Given the description of an element on the screen output the (x, y) to click on. 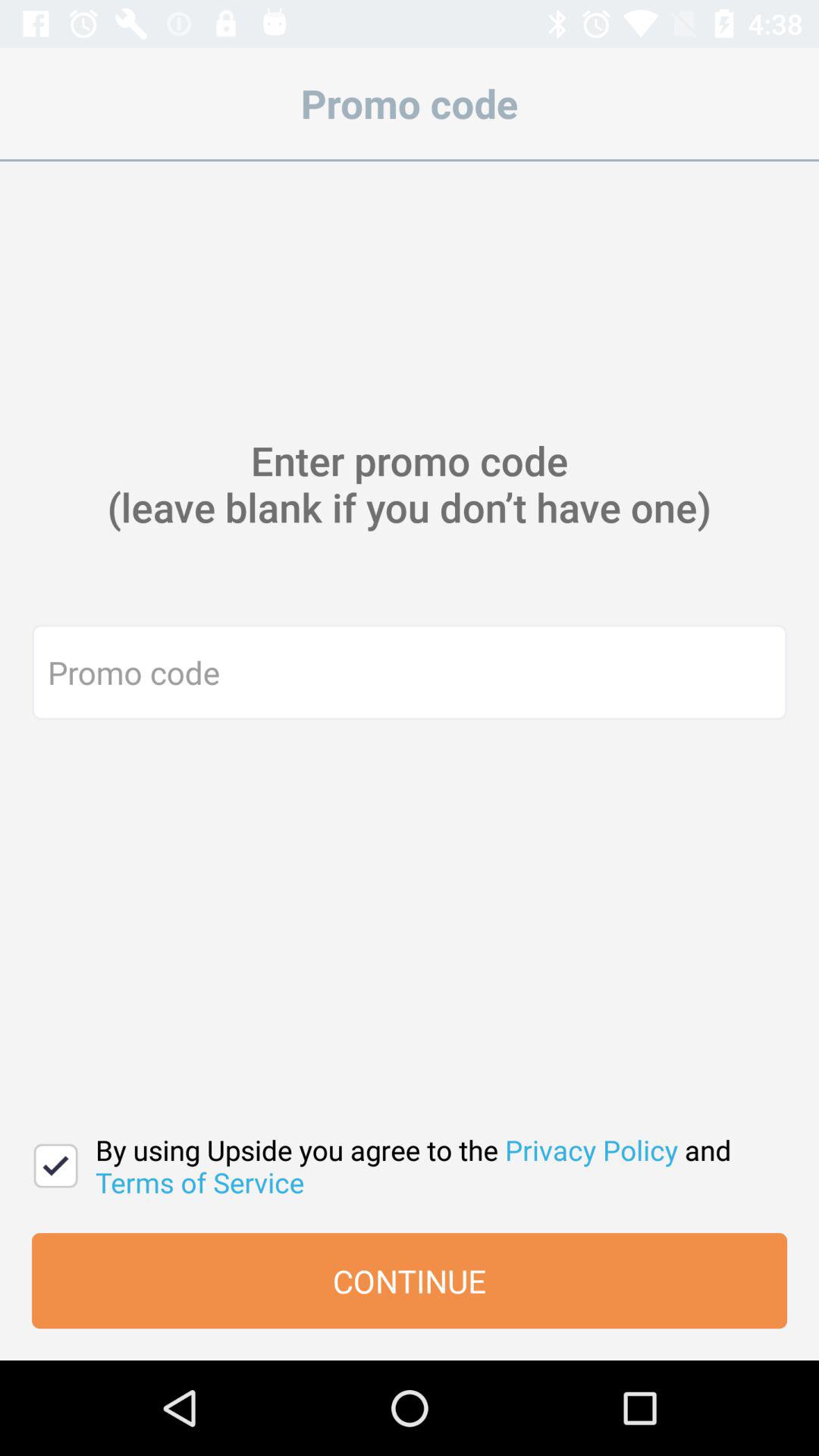
turn on the item to the left of by using upside item (55, 1165)
